Given the description of an element on the screen output the (x, y) to click on. 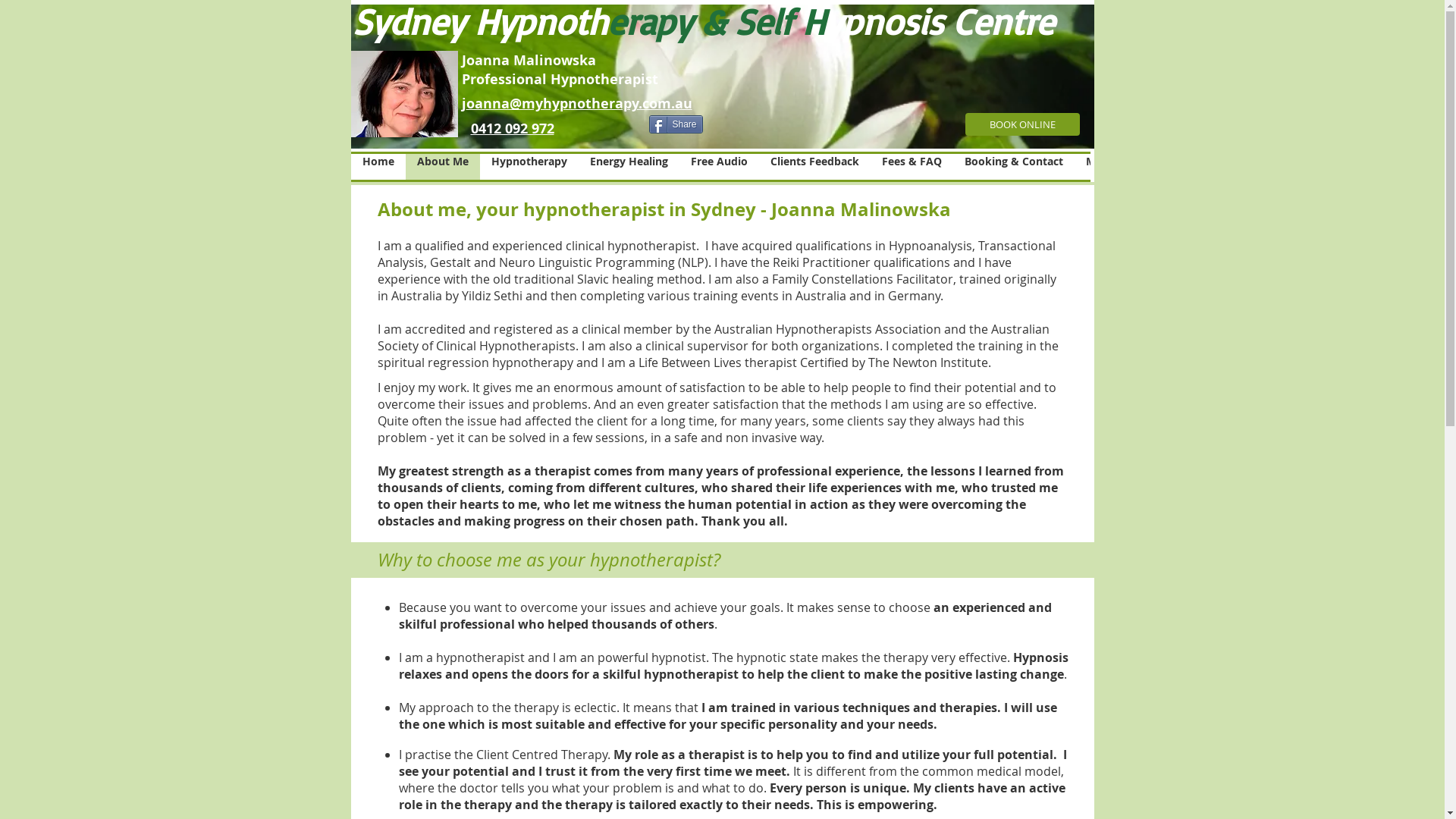
BOOK ONLINE Element type: text (1021, 123)
Home Element type: text (377, 166)
Share Element type: text (675, 124)
Booking & Contact Element type: text (1012, 166)
Hypnotherapy Element type: text (528, 166)
oanna@myhypnotherapy.com.au Element type: text (578, 103)
Twitter Follow Element type: hover (609, 126)
Fees & FAQ Element type: text (911, 166)
Sydney Hypnotherapy logo  Element type: hover (721, 76)
Energy Healing Element type: text (627, 166)
About Me Element type: text (441, 166)
Sydney Hypnotherapist Joanna Malinowska Element type: hover (403, 93)
Free Audio Element type: text (719, 166)
Clients Feedback Element type: text (813, 166)
0412 092 972 Element type: text (511, 128)
